Given the description of an element on the screen output the (x, y) to click on. 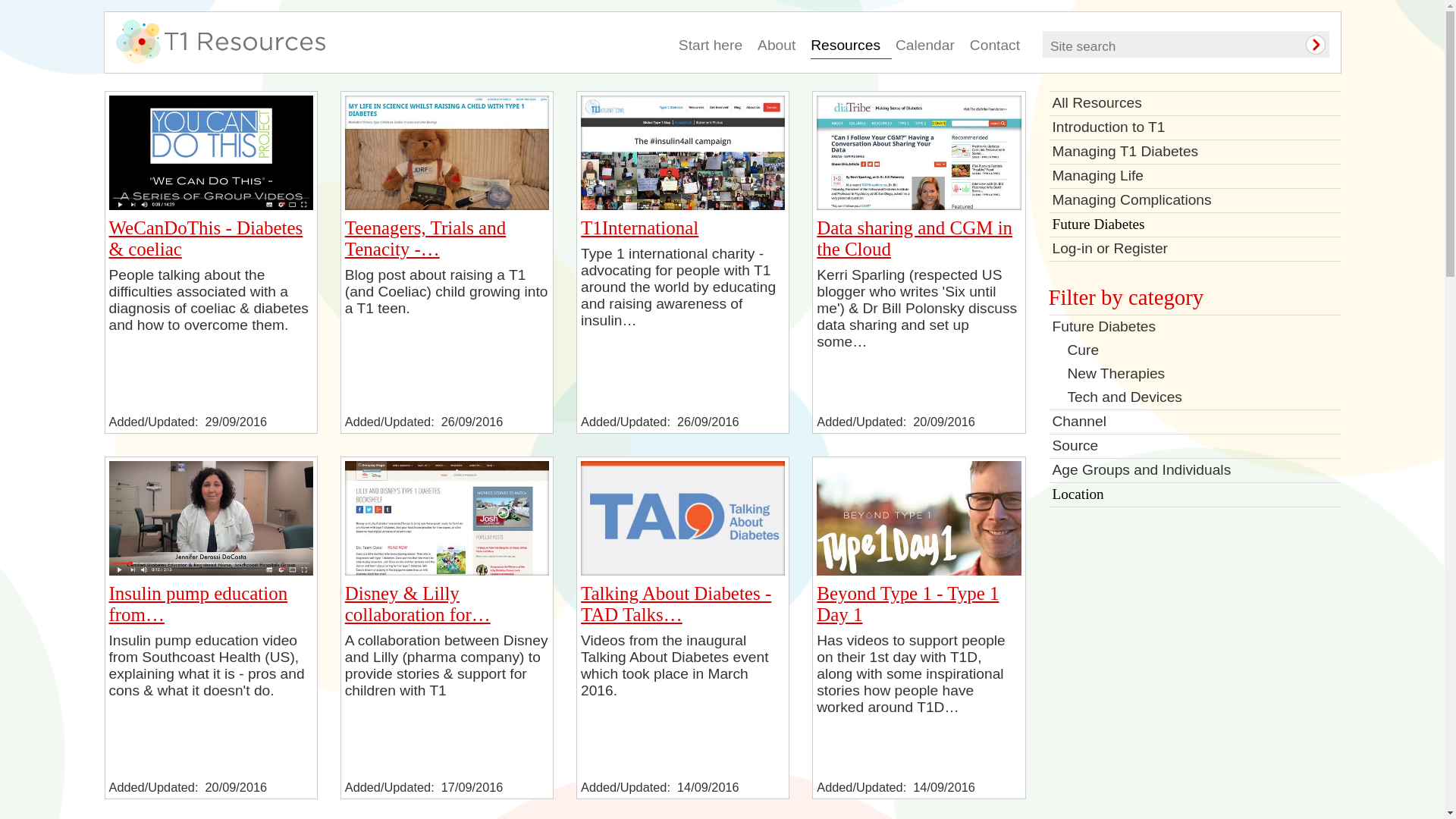
Data sharing and CGM in the Cloud (918, 152)
About (781, 47)
T1International (682, 152)
Search (1304, 44)
Teenagers, Trials and Tenacity - blog by dianec12 (446, 204)
Data sharing and CGM in the Cloud (913, 238)
Teenagers, Trials and Tenacity - blog by dianec12 (425, 238)
Calendar (930, 47)
Beyond Type 1 - Type 1 Day 1 (907, 603)
Teenagers, Trials and Tenacity - blog by dianec12 (446, 152)
